Given the description of an element on the screen output the (x, y) to click on. 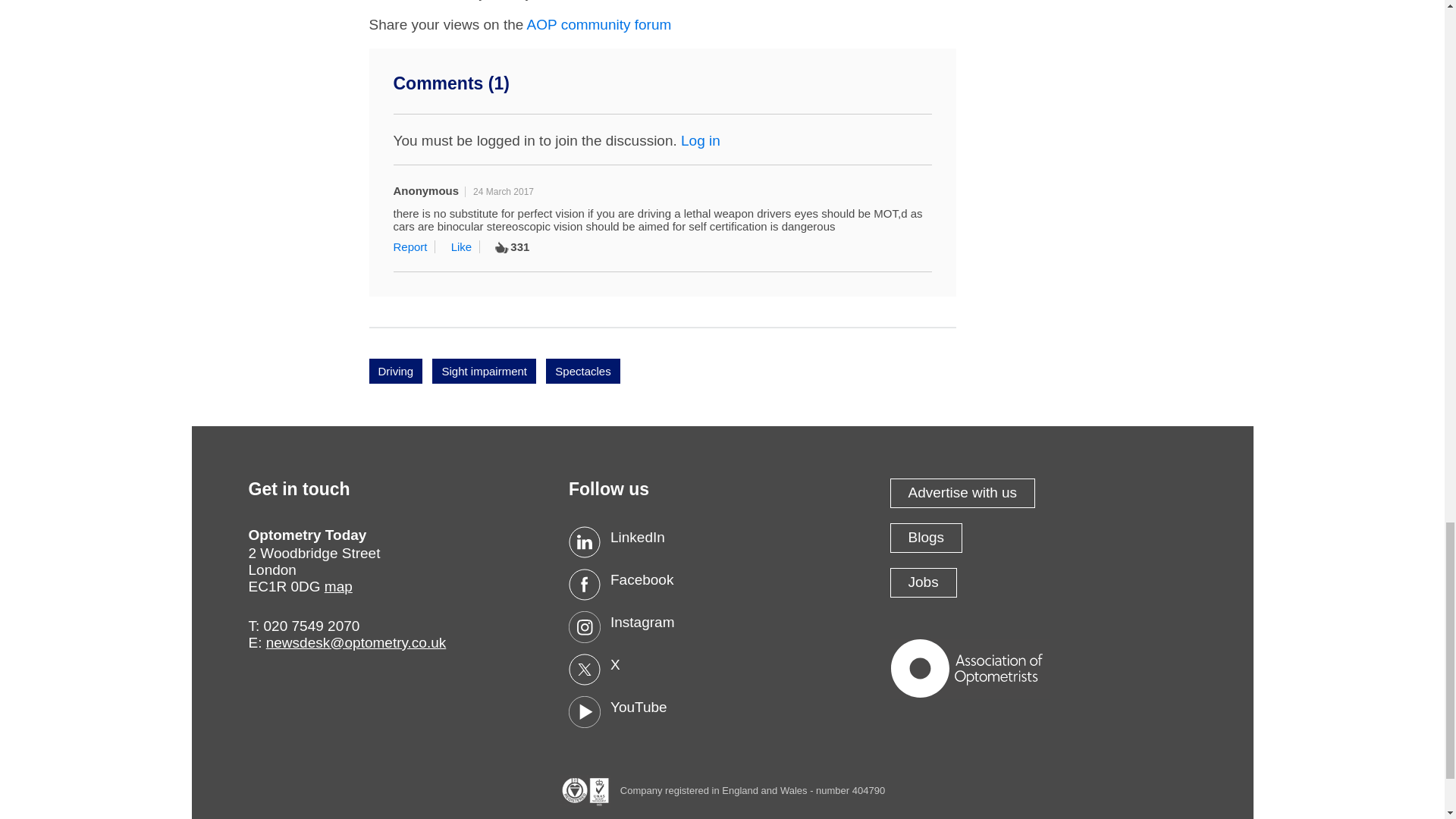
Follow Ot on Facebook (722, 584)
Like (465, 246)
Follow Ot on Twitter (722, 669)
Find us on the map (338, 586)
Connect with OT on LinkedIn (722, 541)
Report (414, 246)
